Given the description of an element on the screen output the (x, y) to click on. 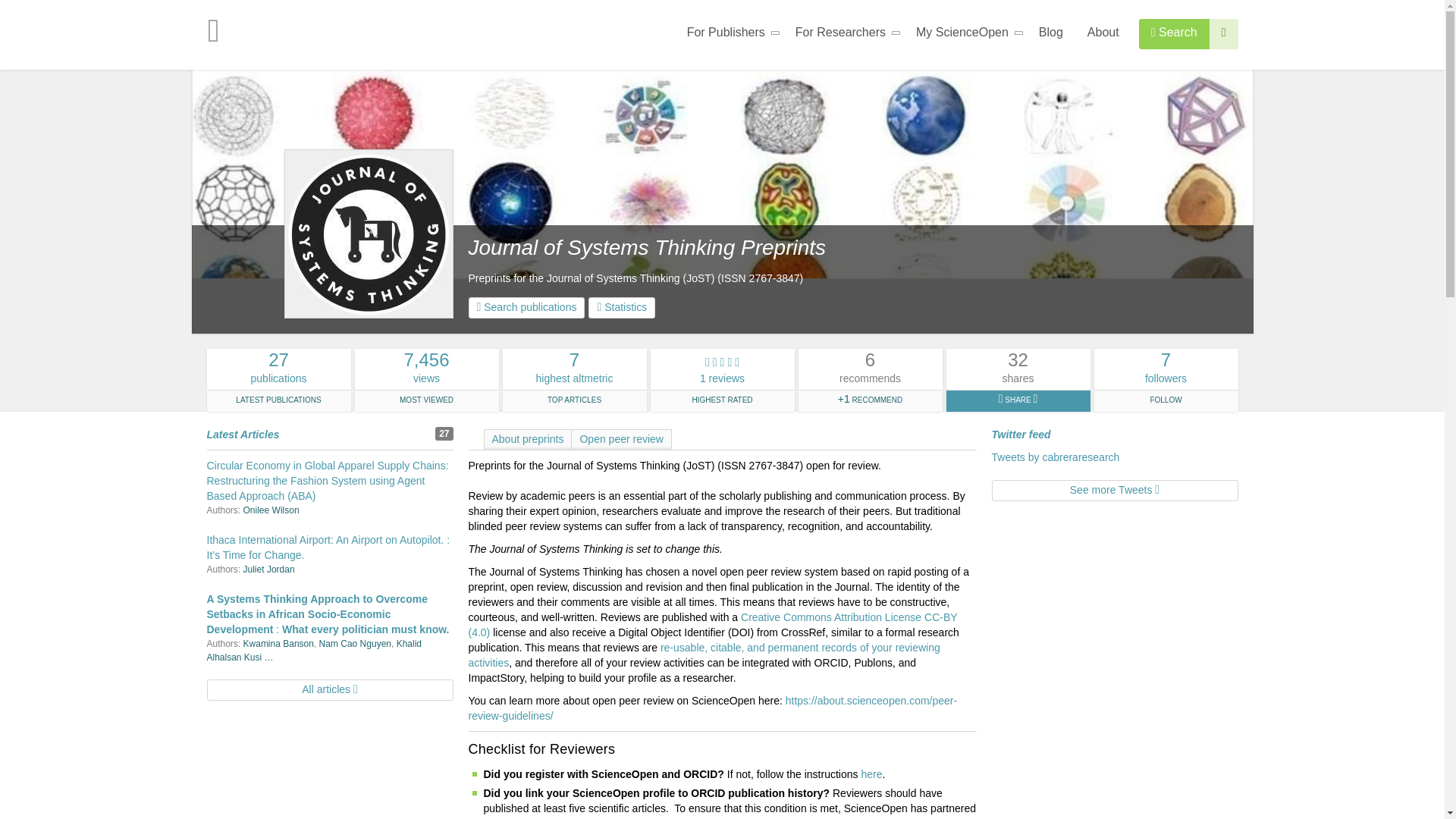
Statistics (621, 307)
Search (1173, 33)
My ScienceOpen (965, 34)
Search publications (526, 307)
Advanced search (1224, 33)
For Researchers (843, 34)
For Publishers (729, 34)
